Given the description of an element on the screen output the (x, y) to click on. 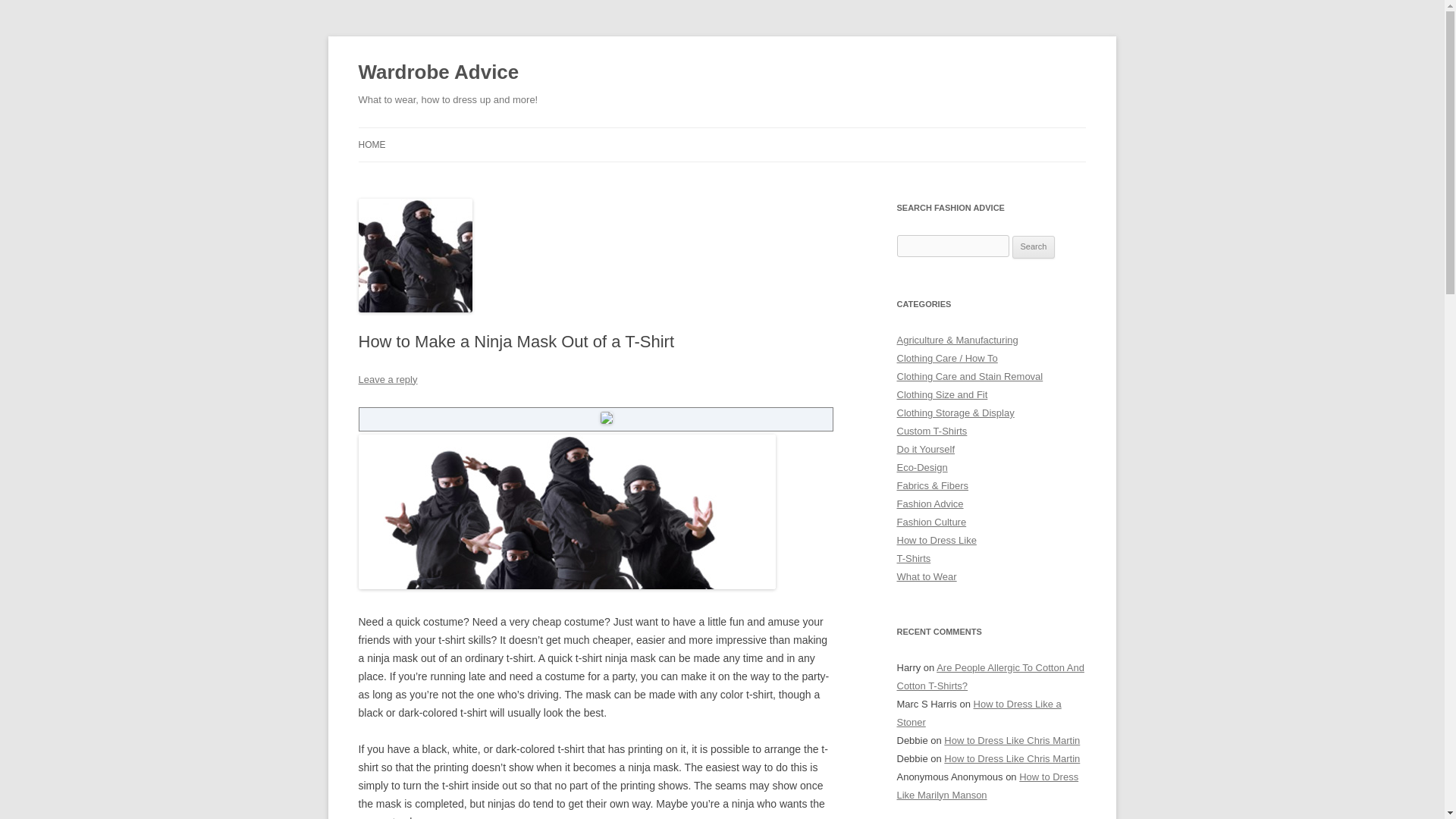
T-Shirts (913, 558)
Ninja mask (566, 511)
Fashion Culture (931, 521)
Search (1033, 246)
Clothing Care and Stain Removal (969, 376)
Custom T-Shirts (931, 430)
Do it Yourself (925, 449)
How to Dress Like (935, 540)
Clothing Size and Fit (941, 394)
